Given the description of an element on the screen output the (x, y) to click on. 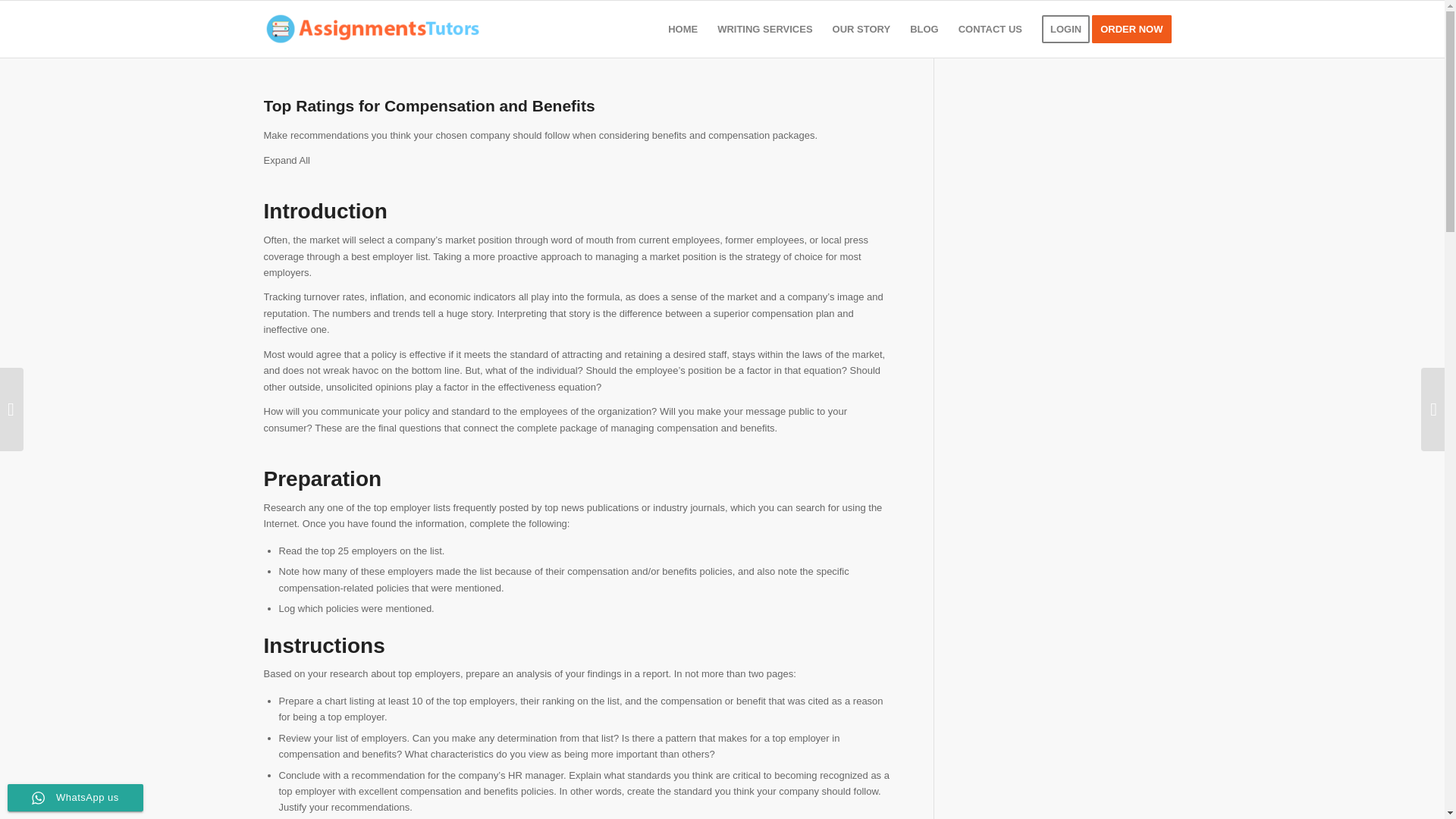
LOGIN (1065, 28)
OUR STORY (861, 28)
Permanent Link: Top Ratings for Compensation and Benefits (429, 105)
WRITING SERVICES (764, 28)
ORDER NOW (1136, 28)
Top Ratings for Compensation and Benefits (429, 105)
CONTACT US (990, 28)
